Given the description of an element on the screen output the (x, y) to click on. 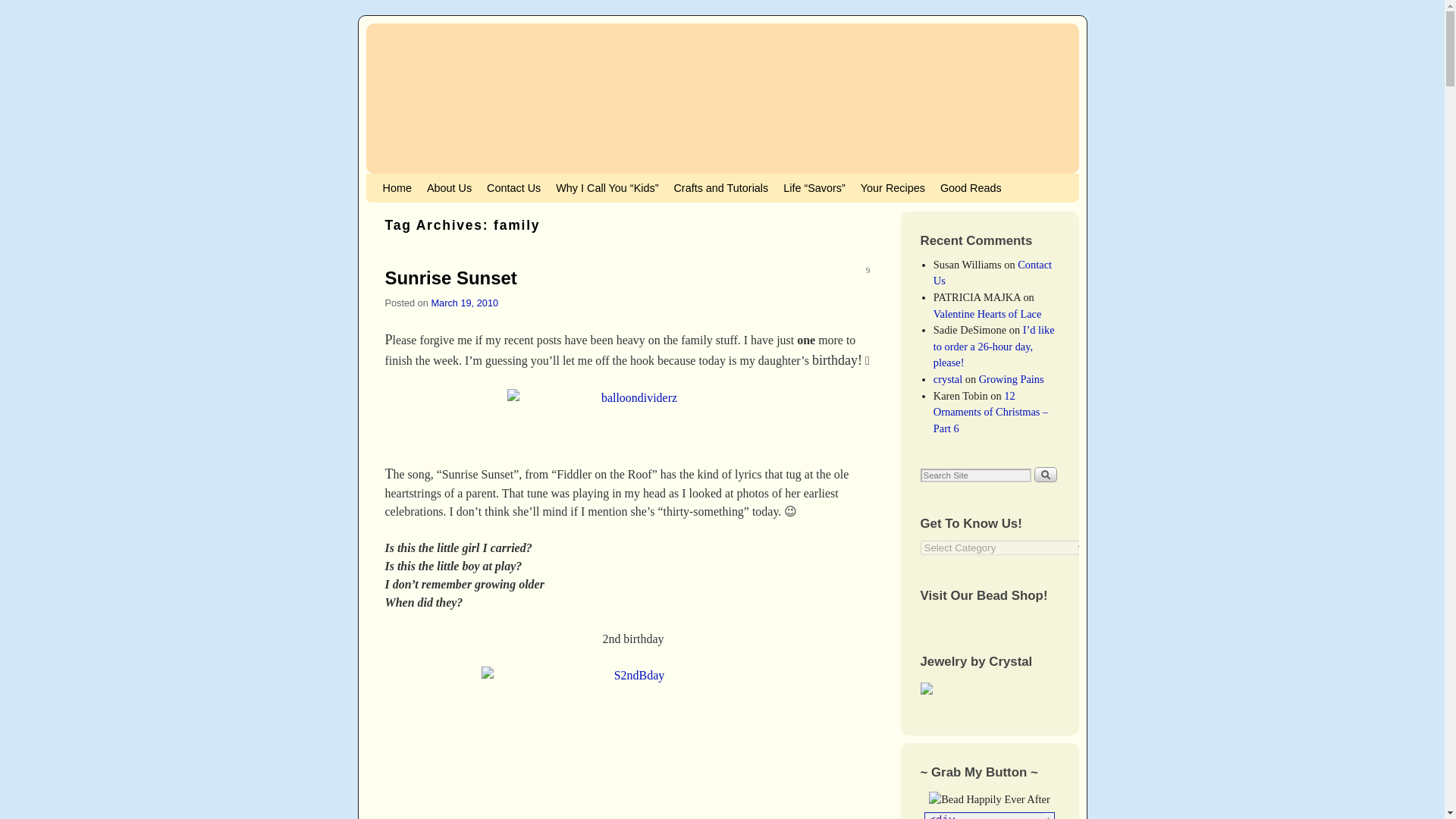
March 19, 2010 (463, 302)
balloondividerz (632, 417)
Crafts and Tutorials (720, 187)
About Us (449, 187)
9 (867, 272)
Bead Happily Ever After (721, 98)
Skip to secondary content (412, 180)
Contact Us (513, 187)
S2ndBday (632, 742)
Permalink to Sunrise Sunset (450, 277)
